Given the description of an element on the screen output the (x, y) to click on. 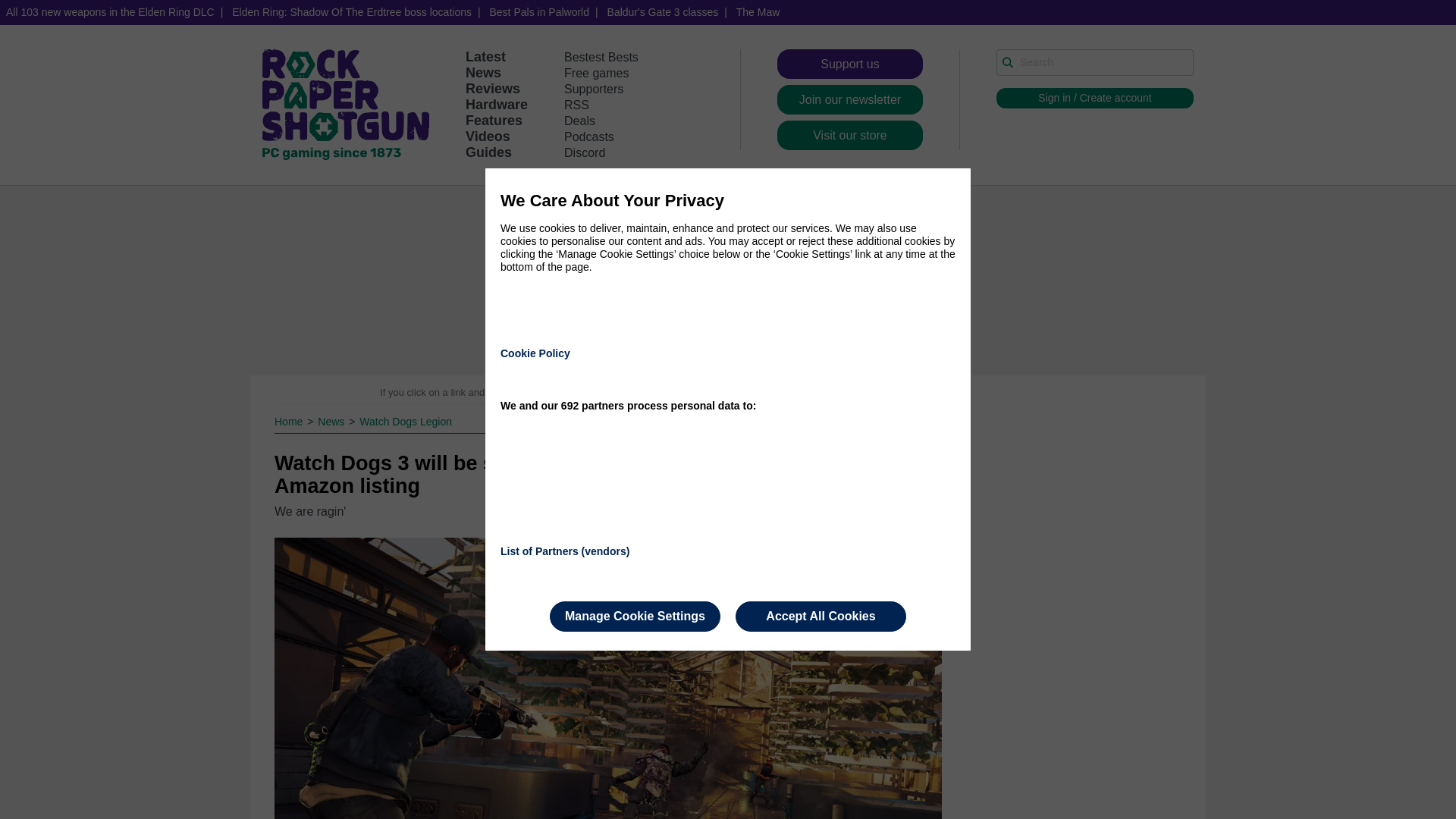
Discord (584, 152)
Latest (485, 56)
Join our newsletter (850, 99)
RSS (576, 104)
Elden Ring: Shadow Of The Erdtree boss locations (351, 12)
Features (493, 120)
Baldur's Gate 3 classes (663, 12)
Reviews (492, 88)
Podcasts (589, 136)
The Maw (758, 12)
Guides (488, 151)
News (482, 72)
Reviews (492, 88)
Visit our store (850, 134)
Latest (485, 56)
